Given the description of an element on the screen output the (x, y) to click on. 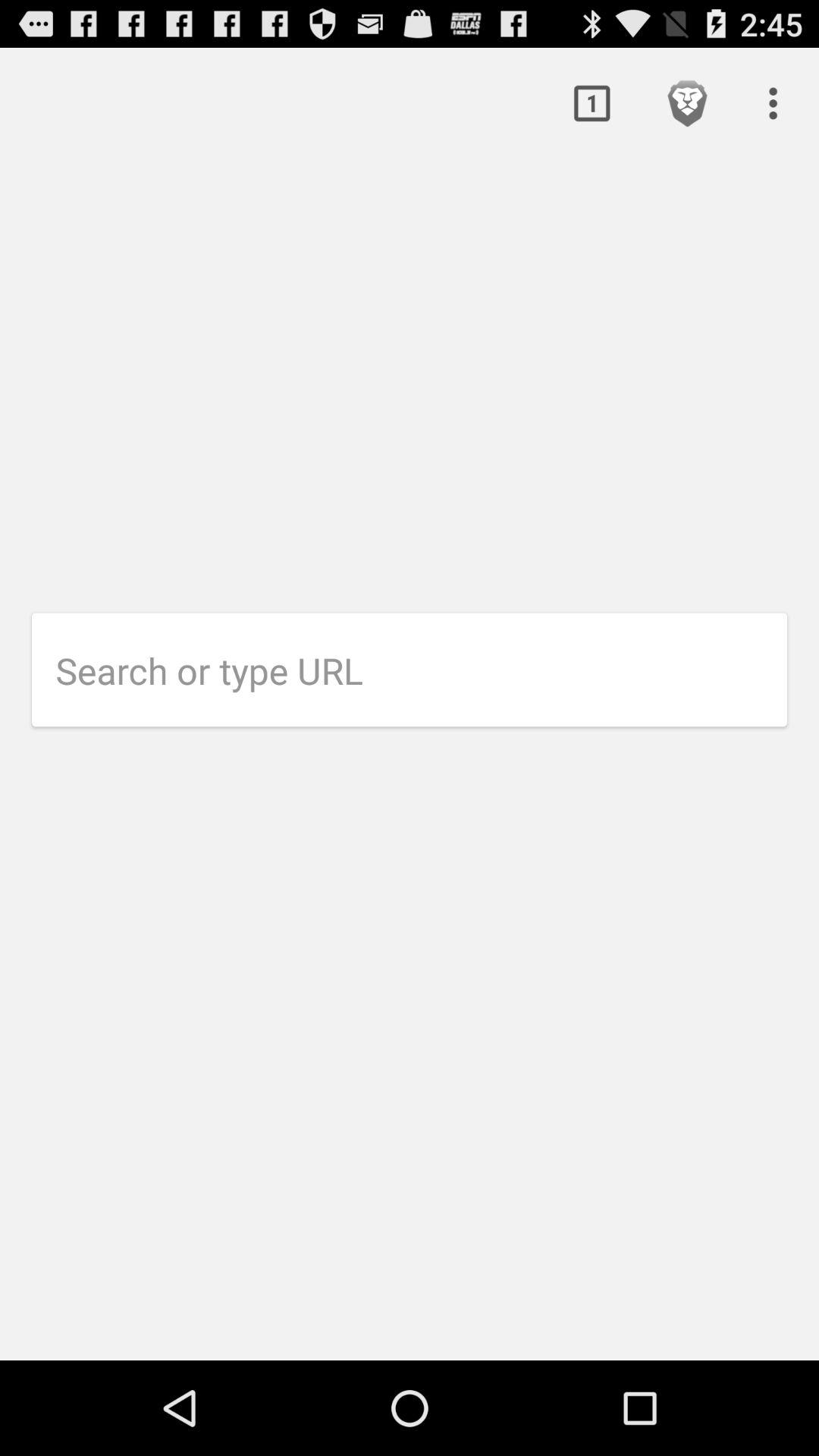
url search bar (421, 670)
